Given the description of an element on the screen output the (x, y) to click on. 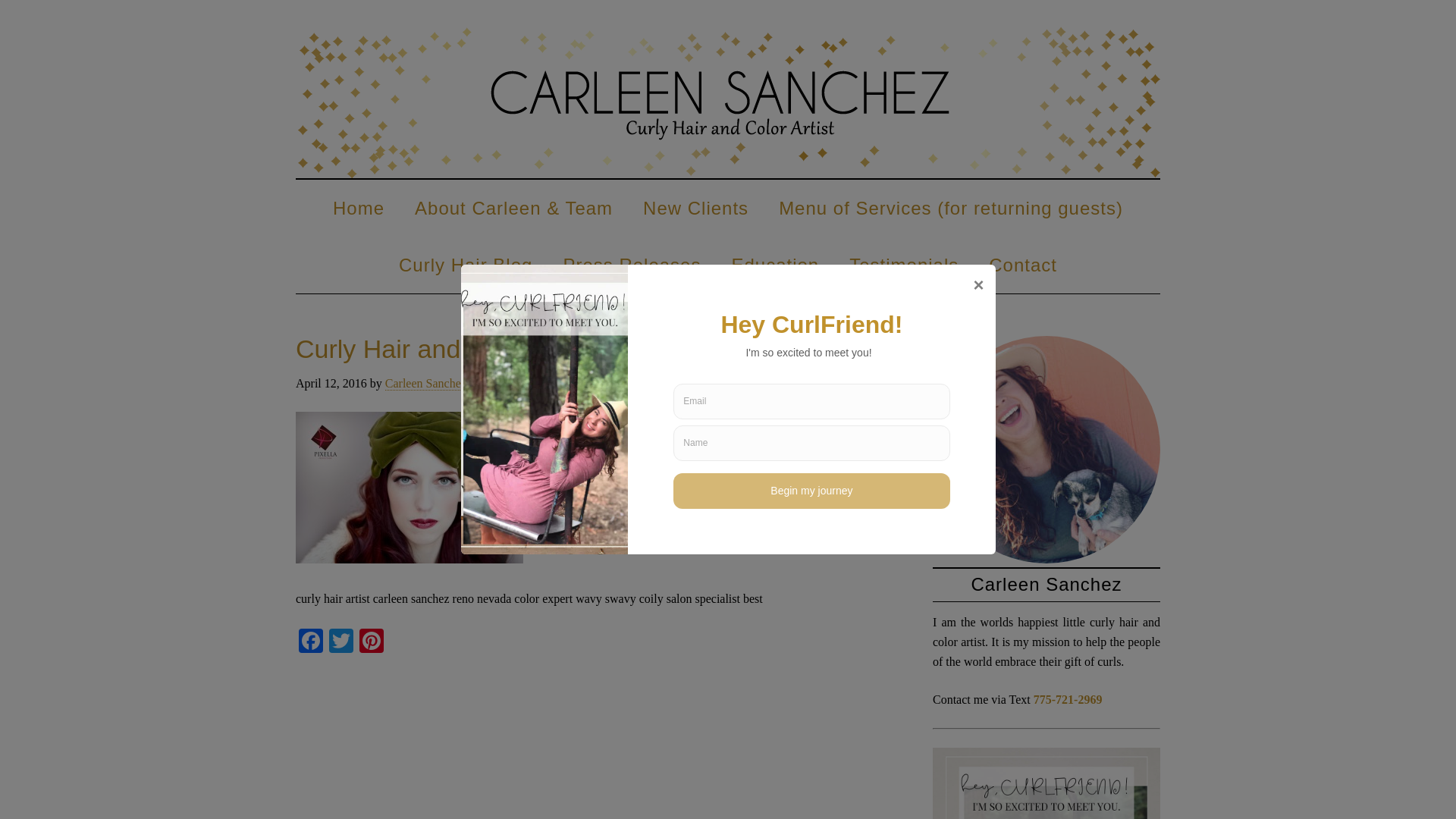
Carleen Sanchez (425, 383)
Home (357, 207)
Facebook (310, 642)
775-721-2969 (1067, 698)
Pinterest (371, 642)
Curly Hair Blog (465, 264)
Testimonials (903, 264)
Twitter (341, 642)
Twitter (341, 642)
Contact (1022, 264)
Press Releases (631, 264)
Education (774, 264)
Carleen Sanchez (727, 102)
New Clients (694, 207)
Pinterest (371, 642)
